Given the description of an element on the screen output the (x, y) to click on. 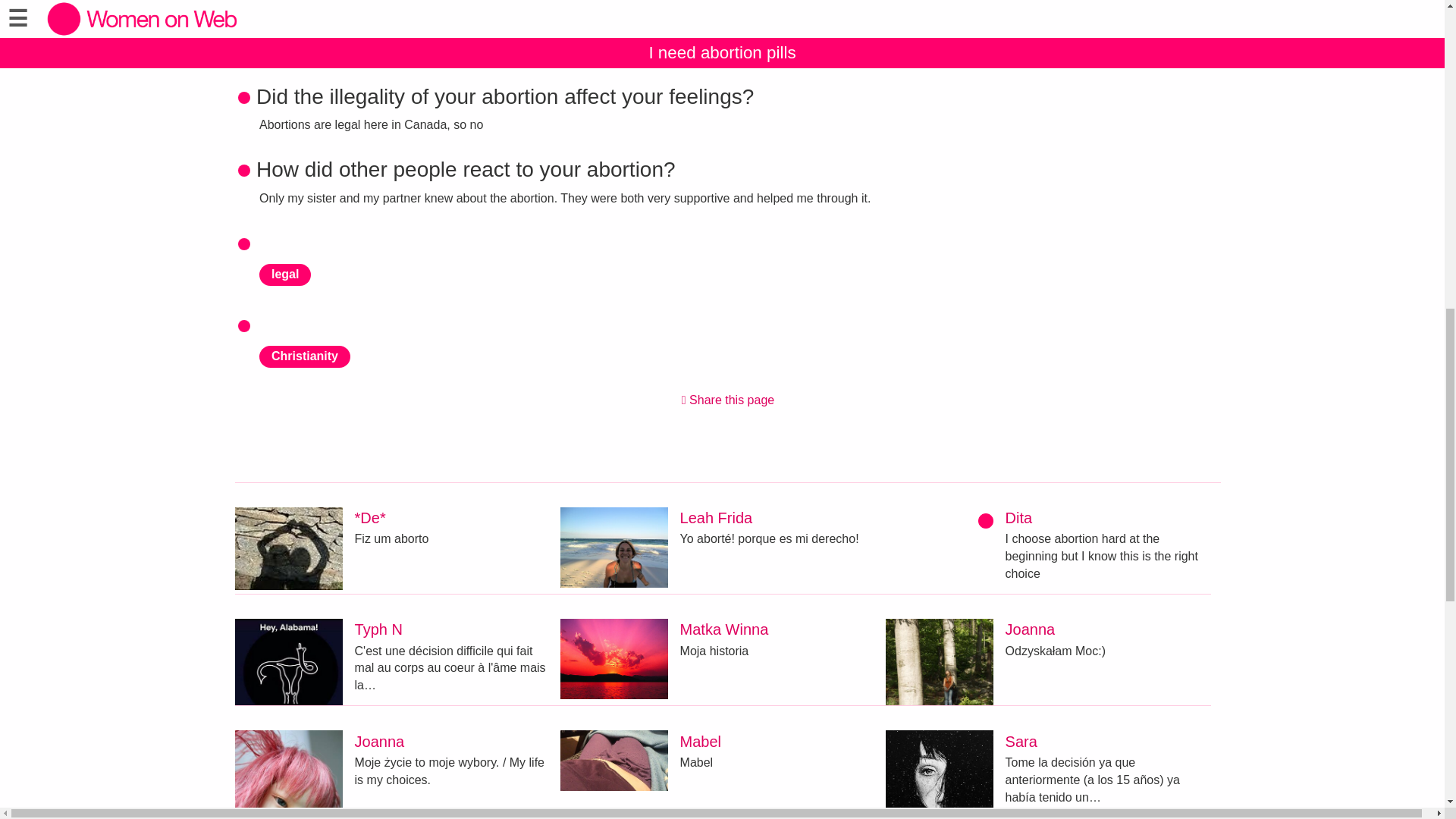
Christianity (304, 355)
Joanna (379, 741)
Sara (1021, 741)
Mabel (699, 741)
legal (285, 273)
Joanna (1030, 629)
Matka Winna (723, 629)
Share this page (727, 399)
Dita (1019, 517)
my education (310, 45)
Leah Frida (715, 517)
Typh N (379, 629)
